Given the description of an element on the screen output the (x, y) to click on. 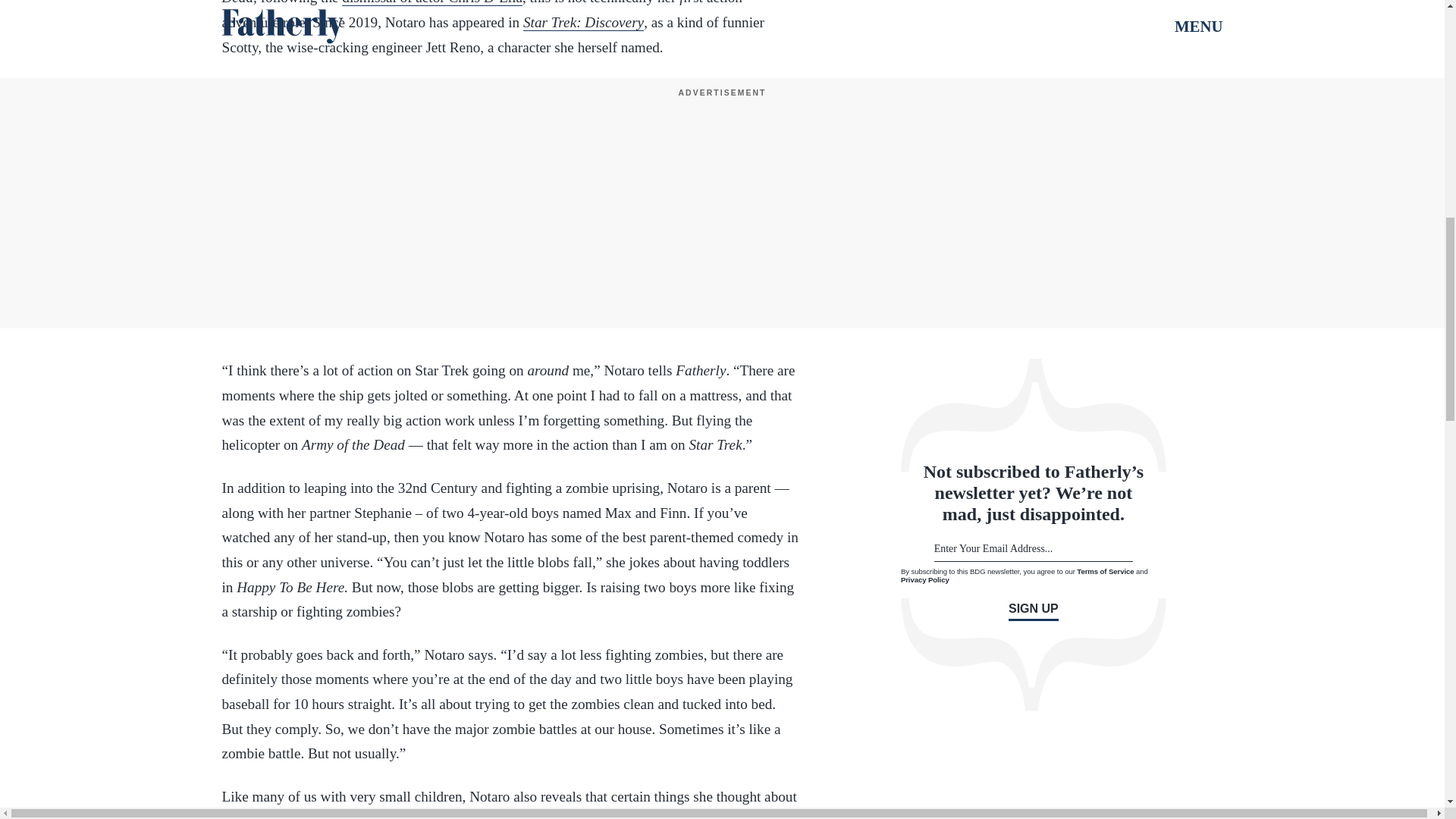
Star Trek: Discovery (582, 22)
Terms of Service (1105, 571)
Privacy Policy (925, 579)
SIGN UP (1033, 610)
